Given the description of an element on the screen output the (x, y) to click on. 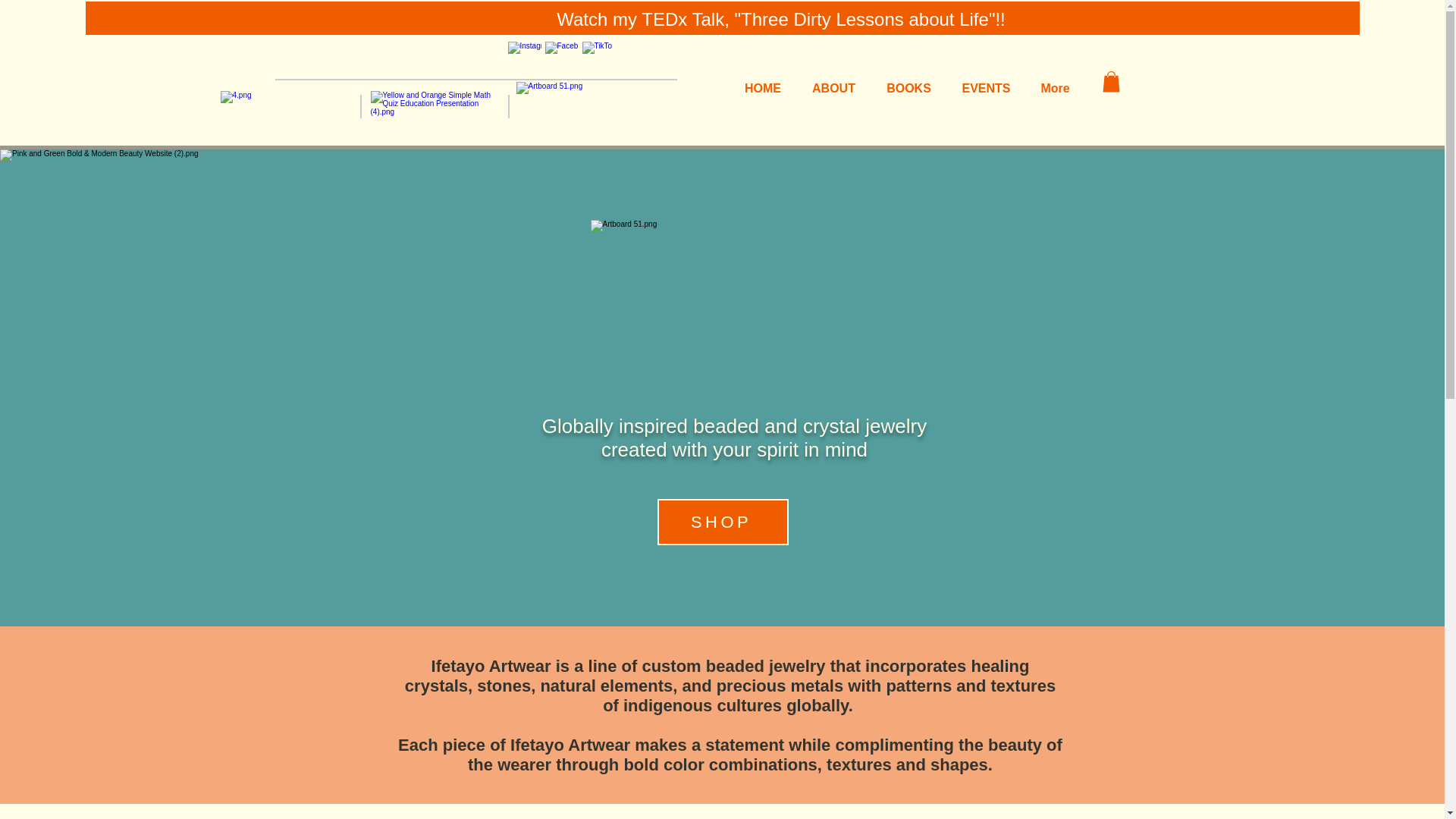
HOME (762, 81)
BOOKS (908, 81)
Watch my TEDx Talk, "Three Dirty Lessons about Life"!! (781, 19)
ABOUT (833, 81)
EVENTS (985, 81)
SHOP (721, 521)
